Given the description of an element on the screen output the (x, y) to click on. 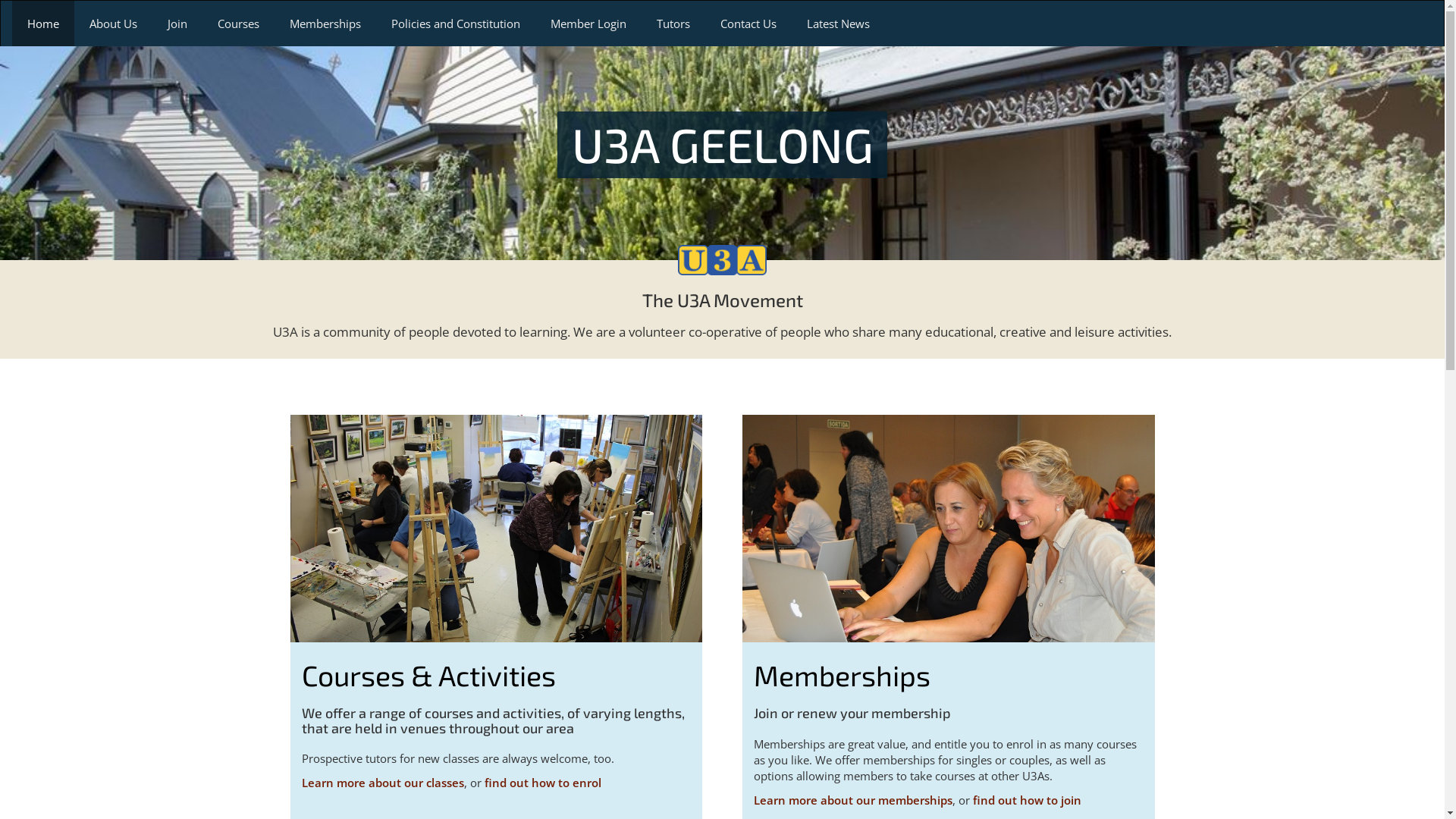
Contact Us Element type: text (748, 23)
Courses Element type: text (238, 23)
Tutors Element type: text (673, 23)
Policies and Constitution Element type: text (455, 23)
Join Element type: text (177, 23)
U3A GEELONG Element type: text (722, 147)
Memberships Element type: hover (948, 528)
Memberships Element type: text (325, 23)
find out how to enrol Element type: text (541, 782)
Courses & Activities Element type: text (428, 675)
Courses & Activities Element type: hover (495, 528)
Learn more about our classes Element type: text (382, 782)
Latest News Element type: text (837, 23)
find out how to join Element type: text (1026, 799)
Member Login Element type: text (588, 23)
About Us Element type: text (113, 23)
Memberships Element type: text (841, 675)
Learn more about our memberships Element type: text (852, 799)
Home Element type: text (43, 23)
